Given the description of an element on the screen output the (x, y) to click on. 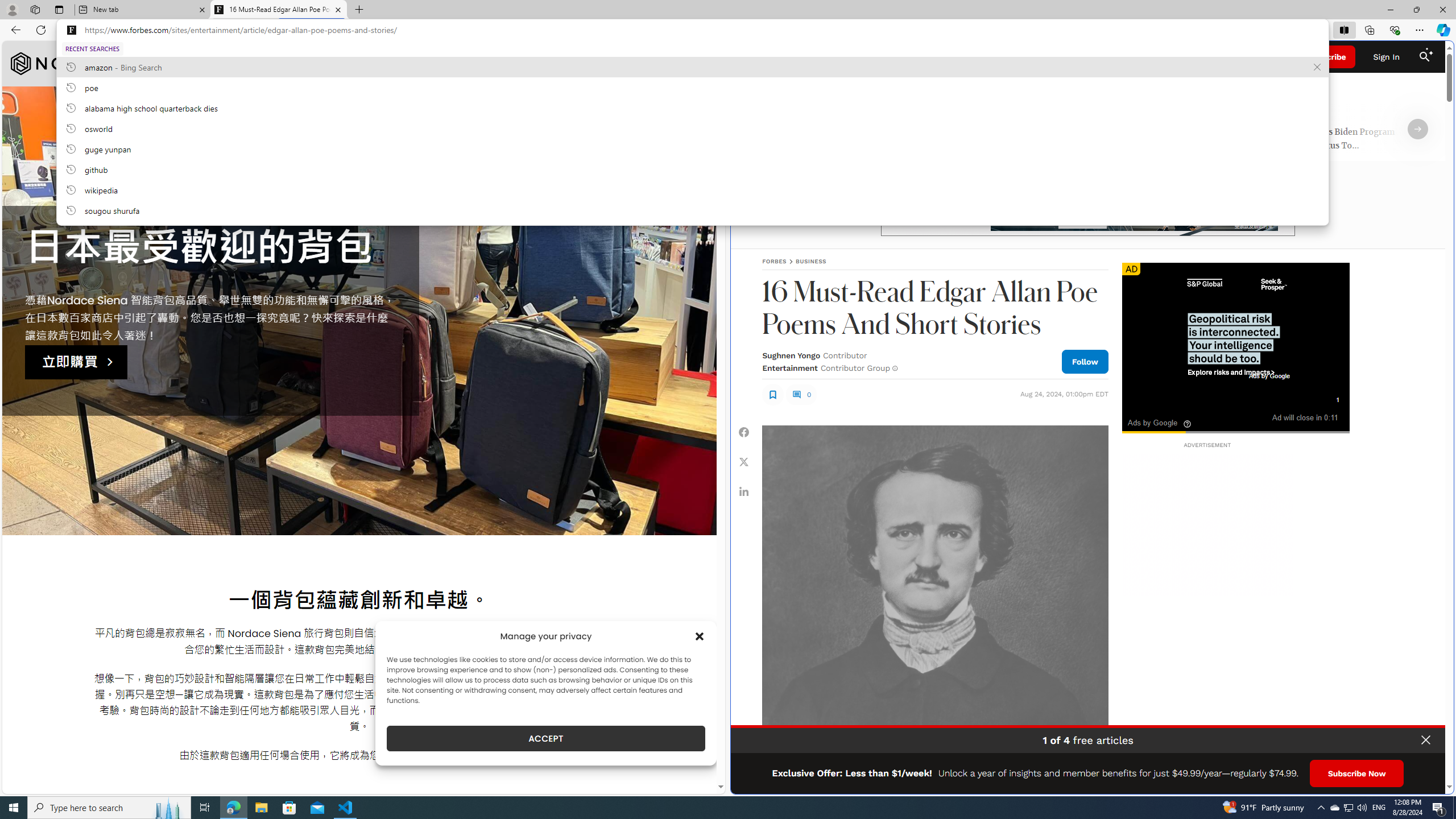
Jack Smith Files New Indictment Against Trump In Jan. 6 Case (853, 139)
Class: fs-icon fs-icon--info (894, 368)
Class: fs-icon fs-icon--Facebook (744, 431)
Class: search_svg__fs-icon search_svg__fs-icon--search (1424, 56)
Class: envelope_svg__fs-icon envelope_svg__fs-icon--envelope (877, 57)
osworld, recent searches from history (691, 127)
Sign In (1386, 56)
amazon, recent searches from history (691, 66)
BUSINESS (810, 261)
